Given the description of an element on the screen output the (x, y) to click on. 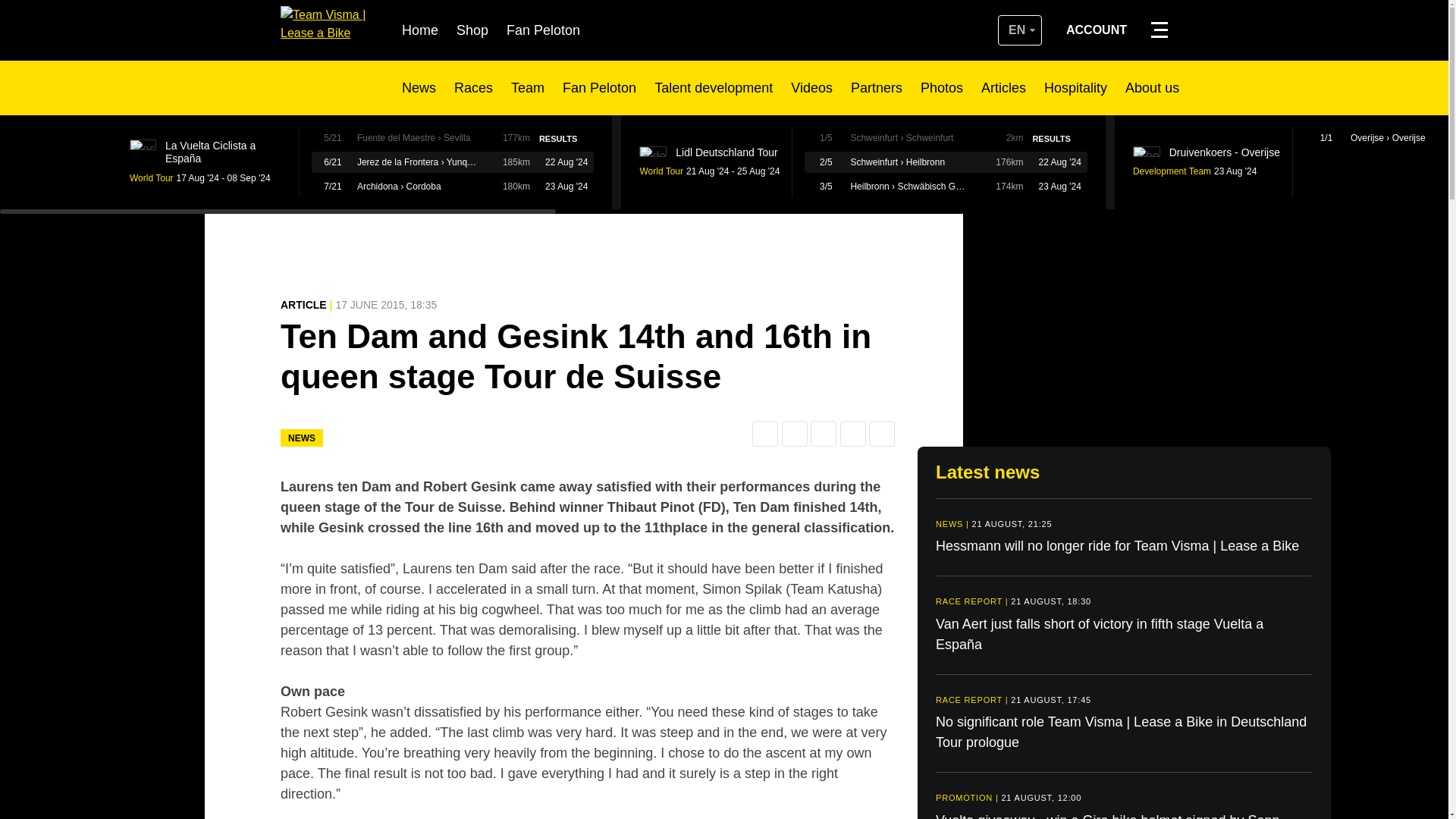
Talent development (713, 87)
ACCOUNT (1095, 30)
News (418, 87)
Home (419, 29)
Fan Peloton (542, 29)
Photos (941, 87)
About us (1152, 87)
Fan Peloton (599, 87)
RESULTS (563, 138)
Races (473, 87)
